Given the description of an element on the screen output the (x, y) to click on. 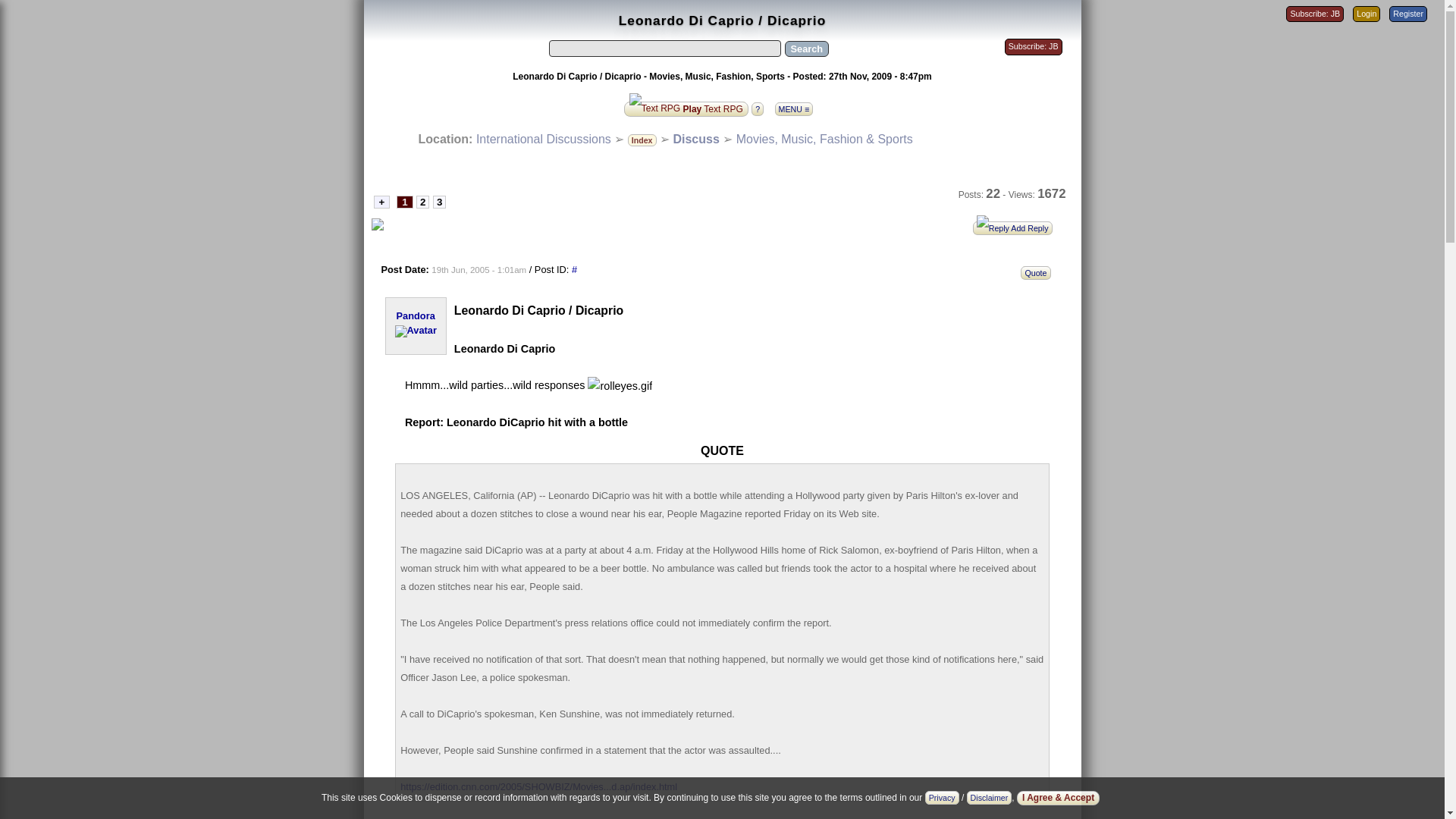
Search (806, 48)
3 (438, 201)
Menu (797, 104)
Jump to page... (381, 201)
Add Reply (1015, 226)
International Discussions (543, 138)
Discuss (695, 138)
Play Text RPG (686, 107)
2 (422, 201)
Home (543, 138)
Index (641, 138)
Reply to this topic (1015, 226)
? (761, 107)
Search (806, 48)
